Given the description of an element on the screen output the (x, y) to click on. 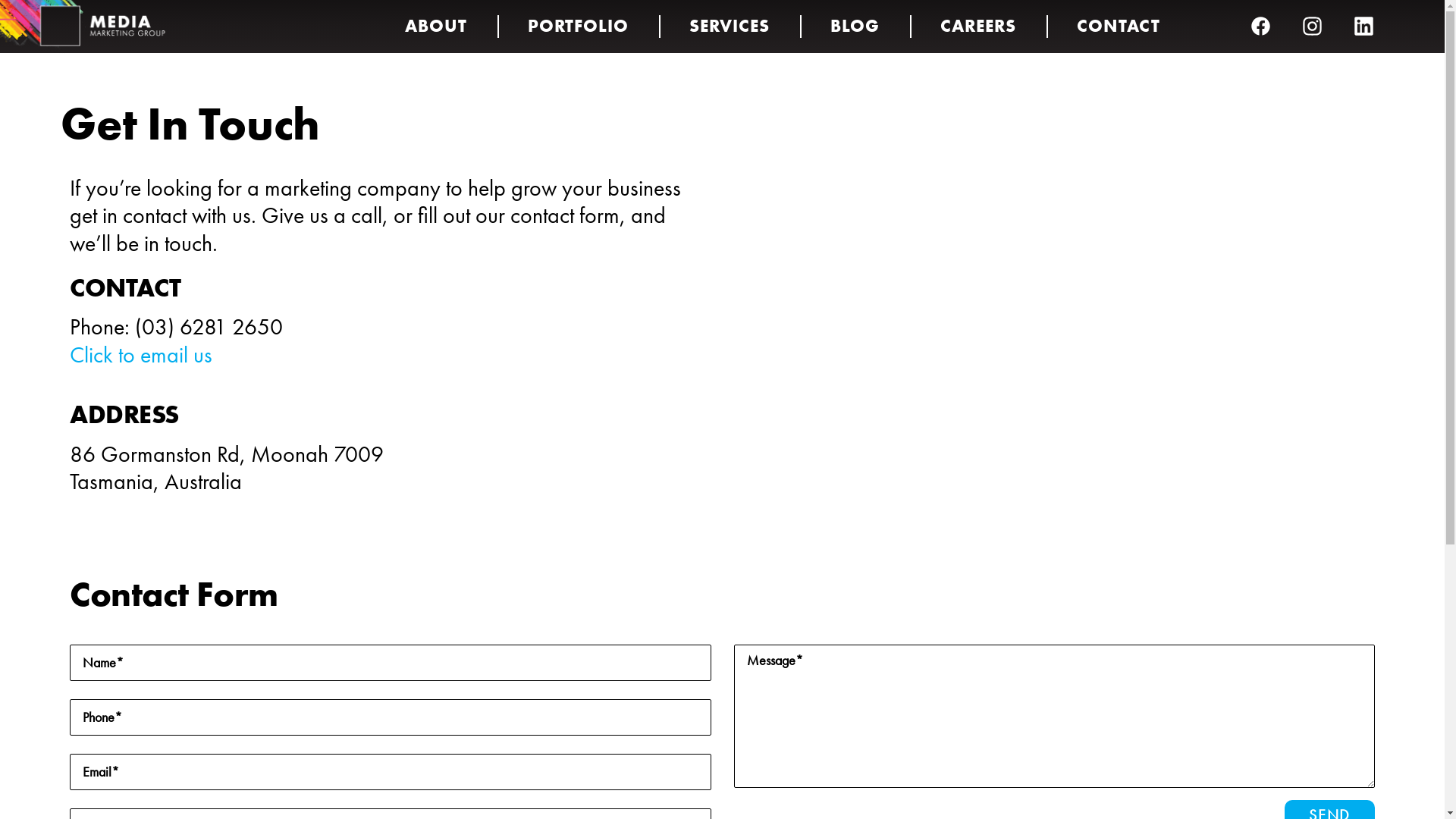
PORTFOLIO Element type: text (577, 26)
ABOUT Element type: text (435, 26)
CONTACT Element type: text (1118, 26)
Click to email us Element type: text (140, 354)
CAREERS Element type: text (978, 26)
SERVICES Element type: text (729, 26)
BLOG Element type: text (855, 26)
